Given the description of an element on the screen output the (x, y) to click on. 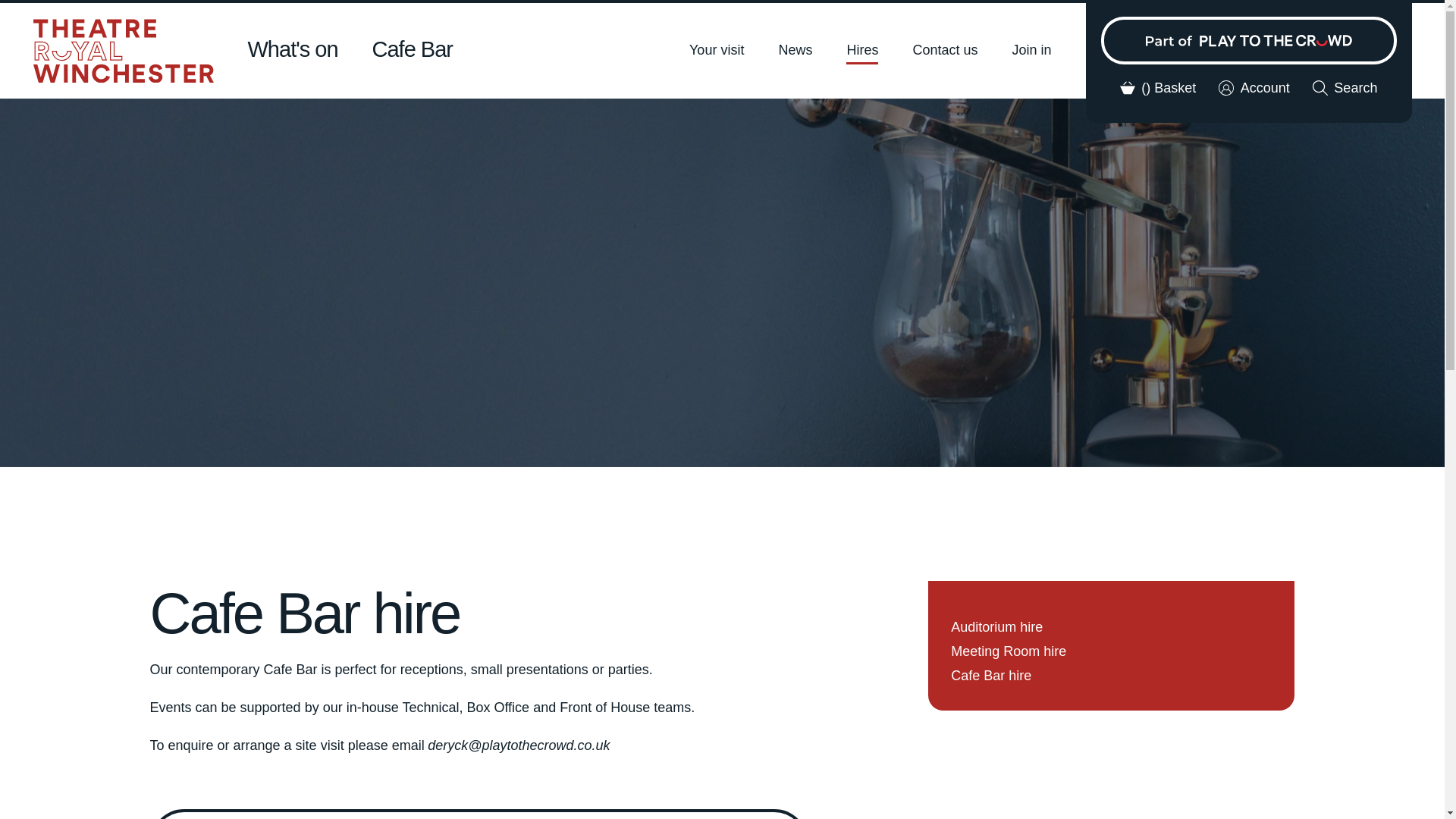
Meeting Room hire (1007, 651)
Account (1254, 87)
Go to Basket (1157, 87)
Auditorium hire (996, 626)
Cafe Bar (412, 50)
What's on (292, 50)
Search (1345, 87)
News (794, 53)
Join in (1031, 53)
